Given the description of an element on the screen output the (x, y) to click on. 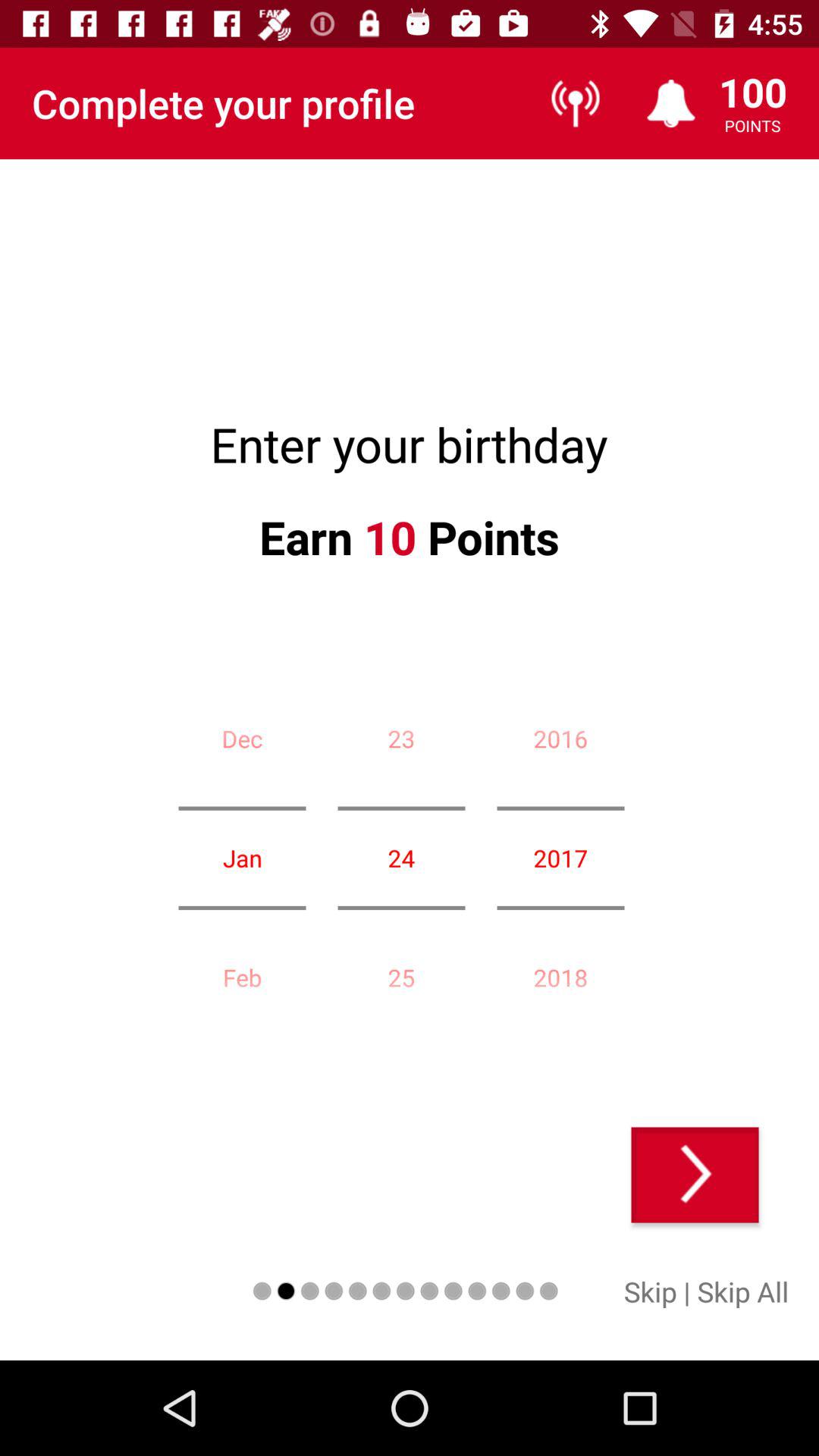
shows the next option (694, 1174)
